Given the description of an element on the screen output the (x, y) to click on. 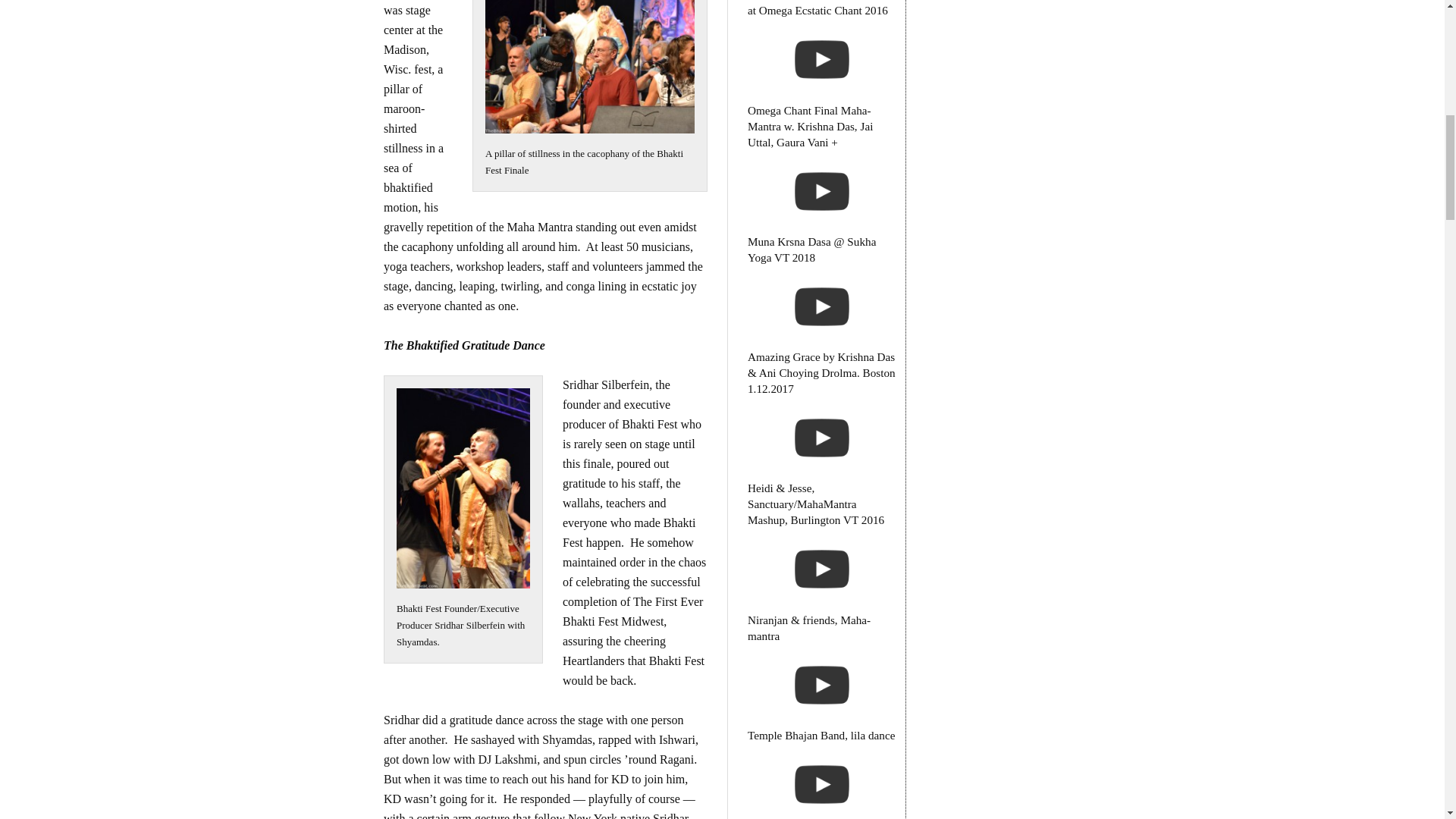
Bhakti Fest Midwest Day 3-slr 749 (462, 488)
Bhakti Fest Midwest Day 3-slr 689 (589, 66)
